Given the description of an element on the screen output the (x, y) to click on. 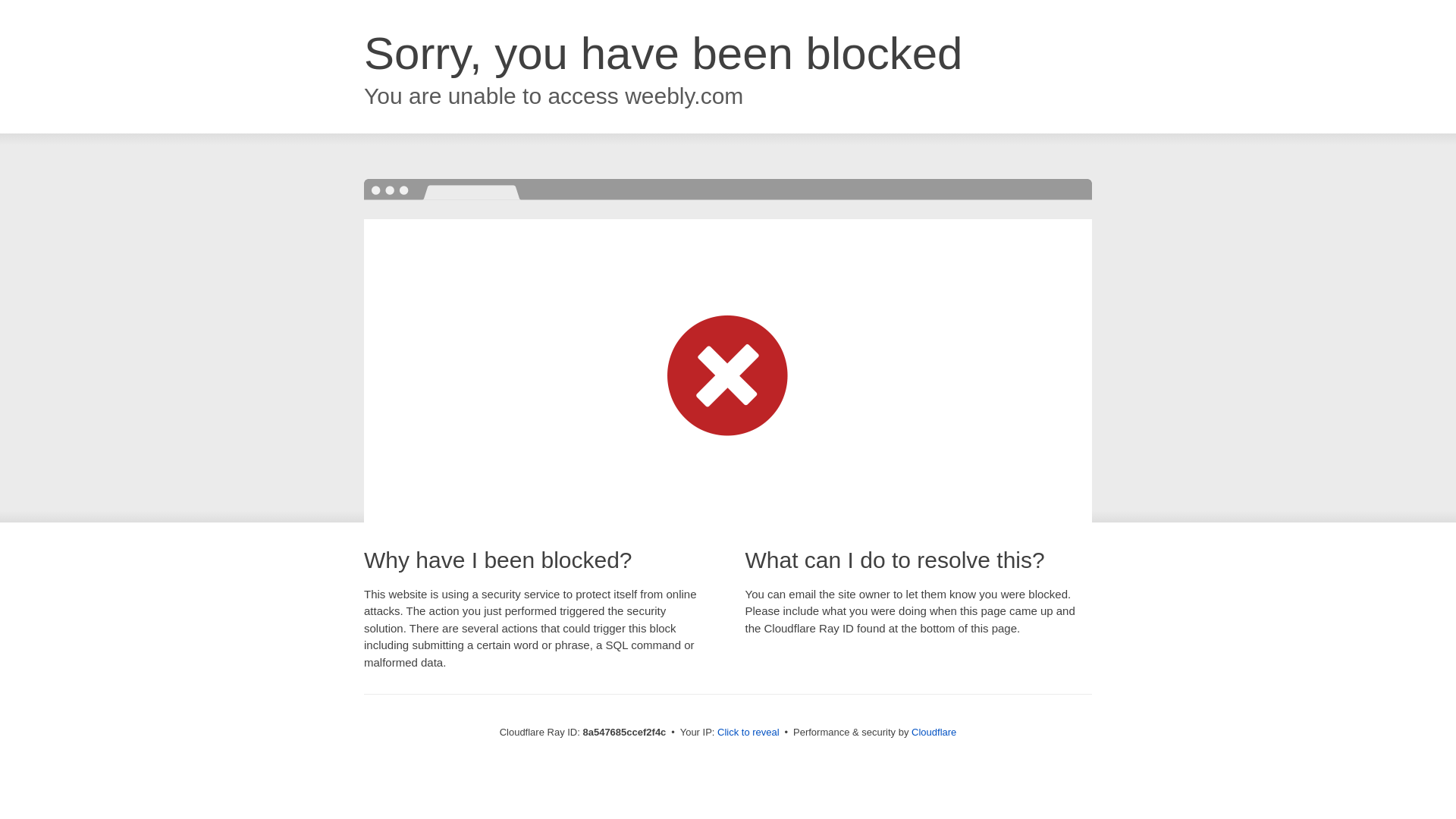
Cloudflare (933, 731)
Click to reveal (747, 732)
